Given the description of an element on the screen output the (x, y) to click on. 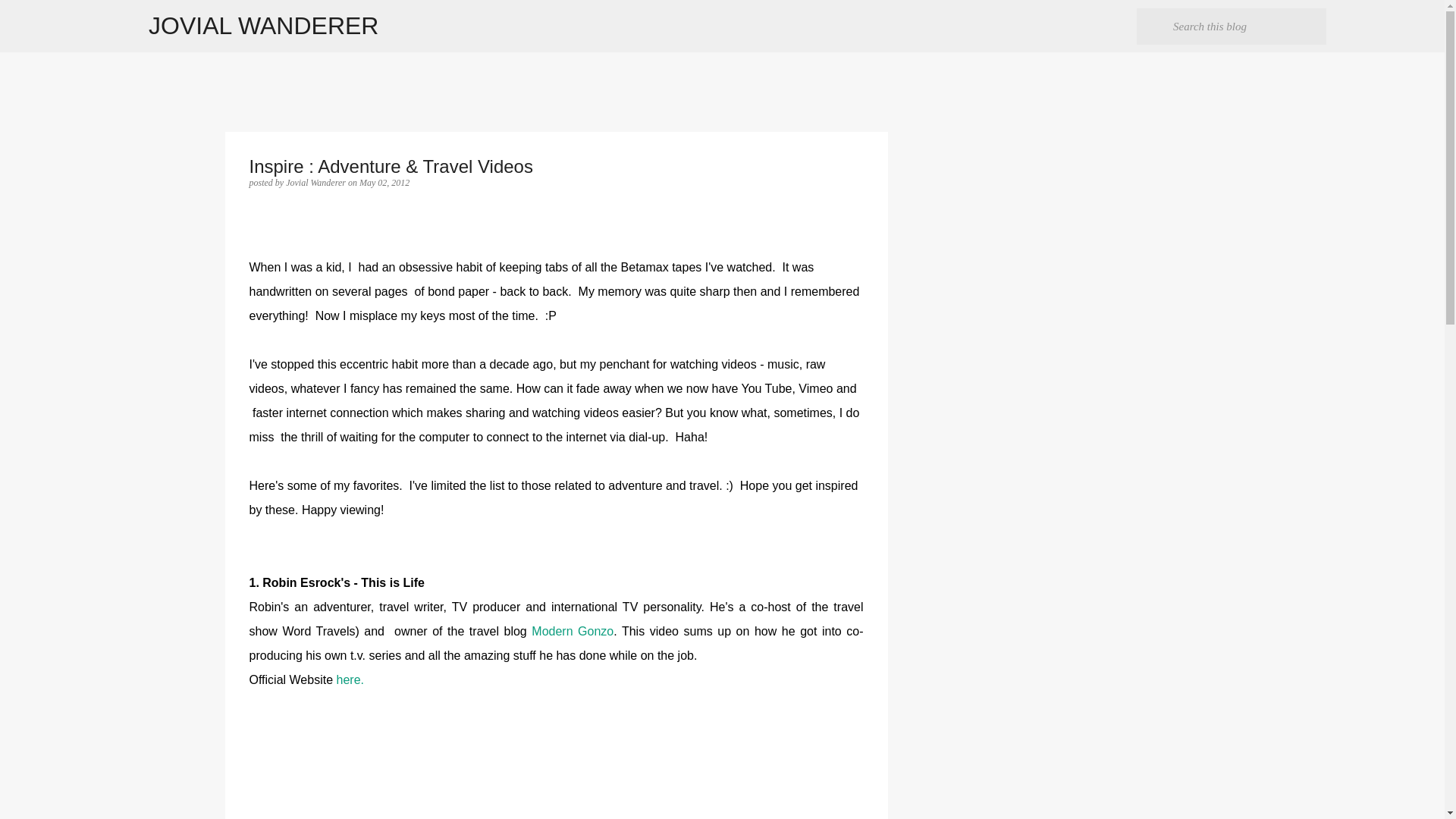
JOVIAL WANDERER (263, 25)
author profile (316, 182)
Modern Gonzo (571, 631)
here. (348, 679)
Jovial Wanderer (316, 182)
May 02, 2012 (384, 182)
permanent link (384, 182)
